Given the description of an element on the screen output the (x, y) to click on. 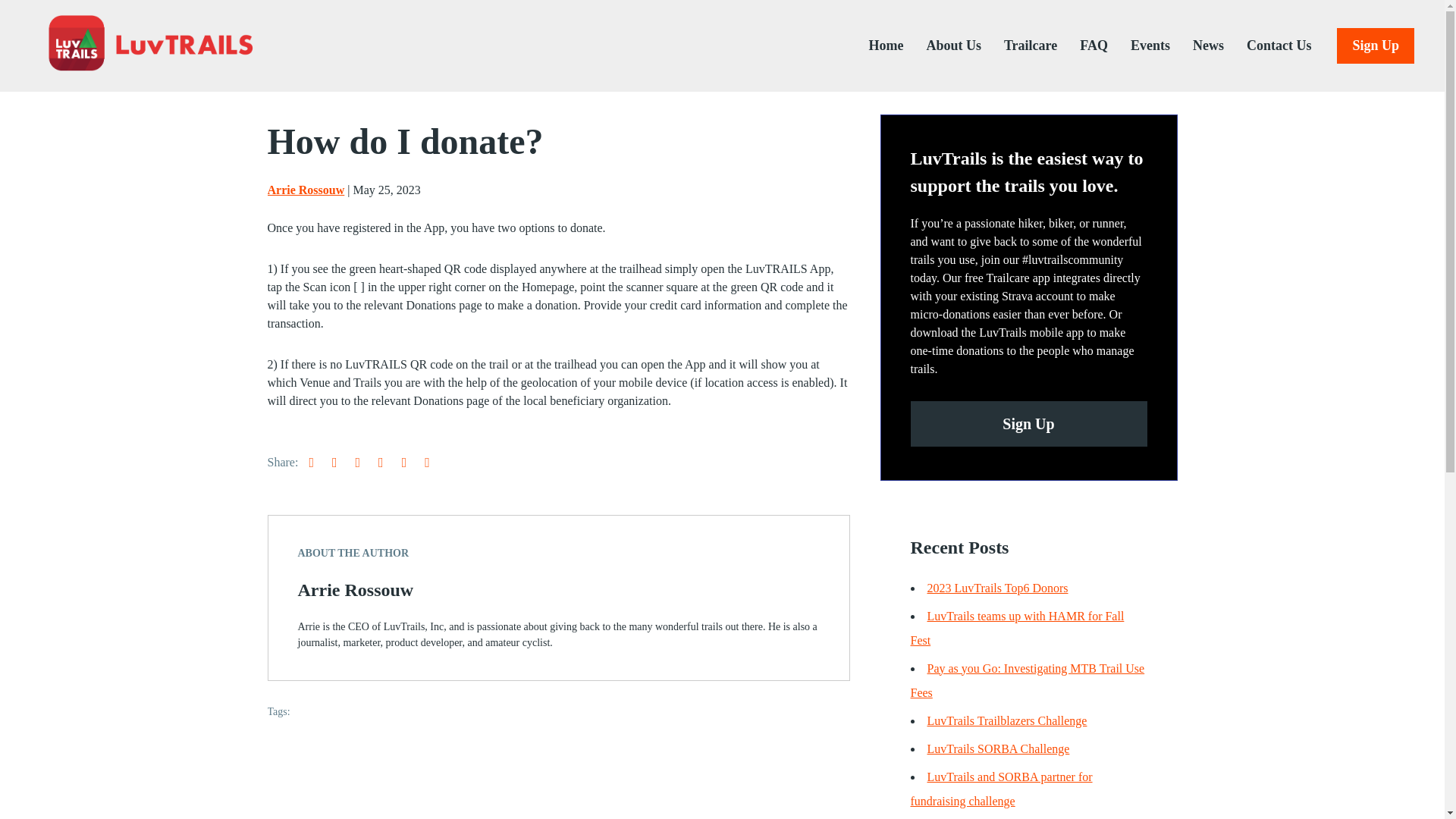
Sign Up (1028, 423)
About Us (941, 46)
FAQ (1082, 46)
Sign Up (1374, 45)
Arrie Rossouw (304, 189)
LuvTrails Trailblazers Challenge (1006, 720)
LuvTrails teams up with HAMR for Fall Fest (1017, 628)
Share via LINE (435, 461)
LuvTrails and SORBA partner for fundraising challenge (1001, 788)
2023 LuvTrails Top6 Donors (996, 587)
Trailcare (1019, 46)
Share via Telegram (365, 461)
Home (873, 46)
Share via Signal (388, 461)
News (1197, 46)
